Given the description of an element on the screen output the (x, y) to click on. 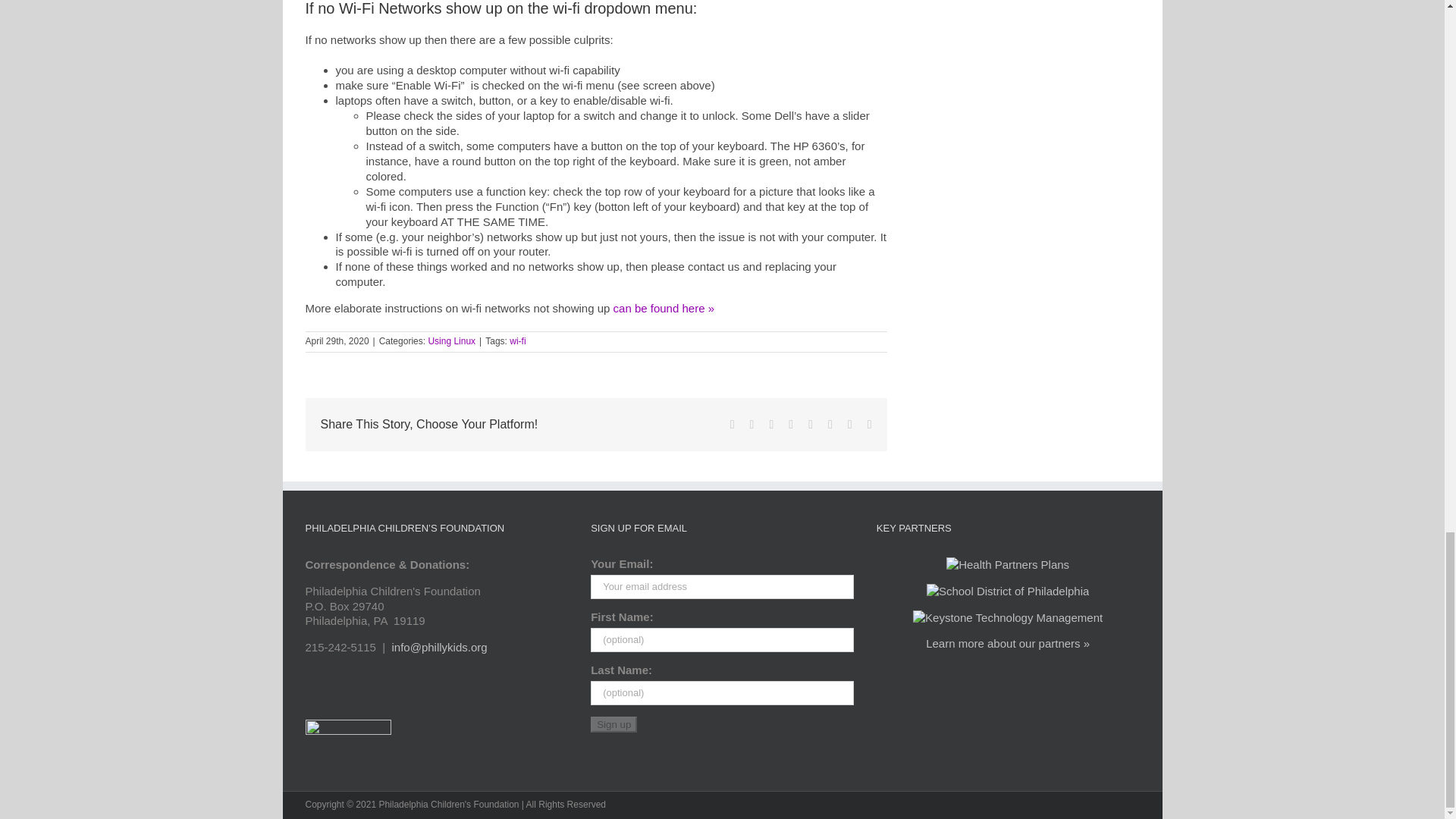
Sign up (614, 724)
